Given the description of an element on the screen output the (x, y) to click on. 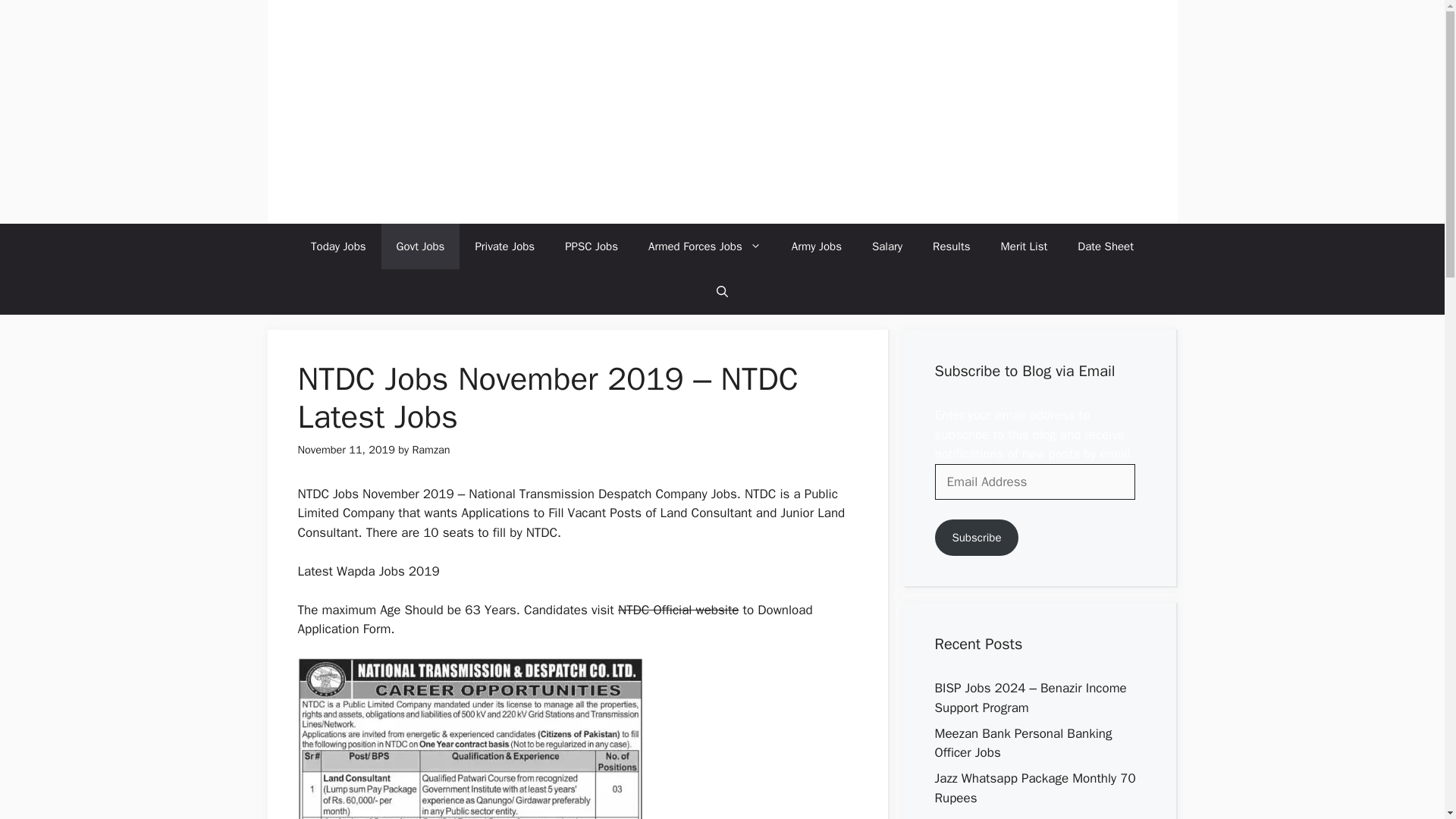
Meezan Bank Personal Banking Officer Jobs (1023, 742)
Armed Forces Jobs (704, 246)
Govt Jobs (420, 246)
Tevta Jobs 2024 For Visiting Faculty (1035, 817)
View all posts by Ramzan (430, 449)
Salary (887, 246)
Army Jobs (816, 246)
PPSC Jobs (591, 246)
Today Jobs (338, 246)
Private Jobs (505, 246)
